Given the description of an element on the screen output the (x, y) to click on. 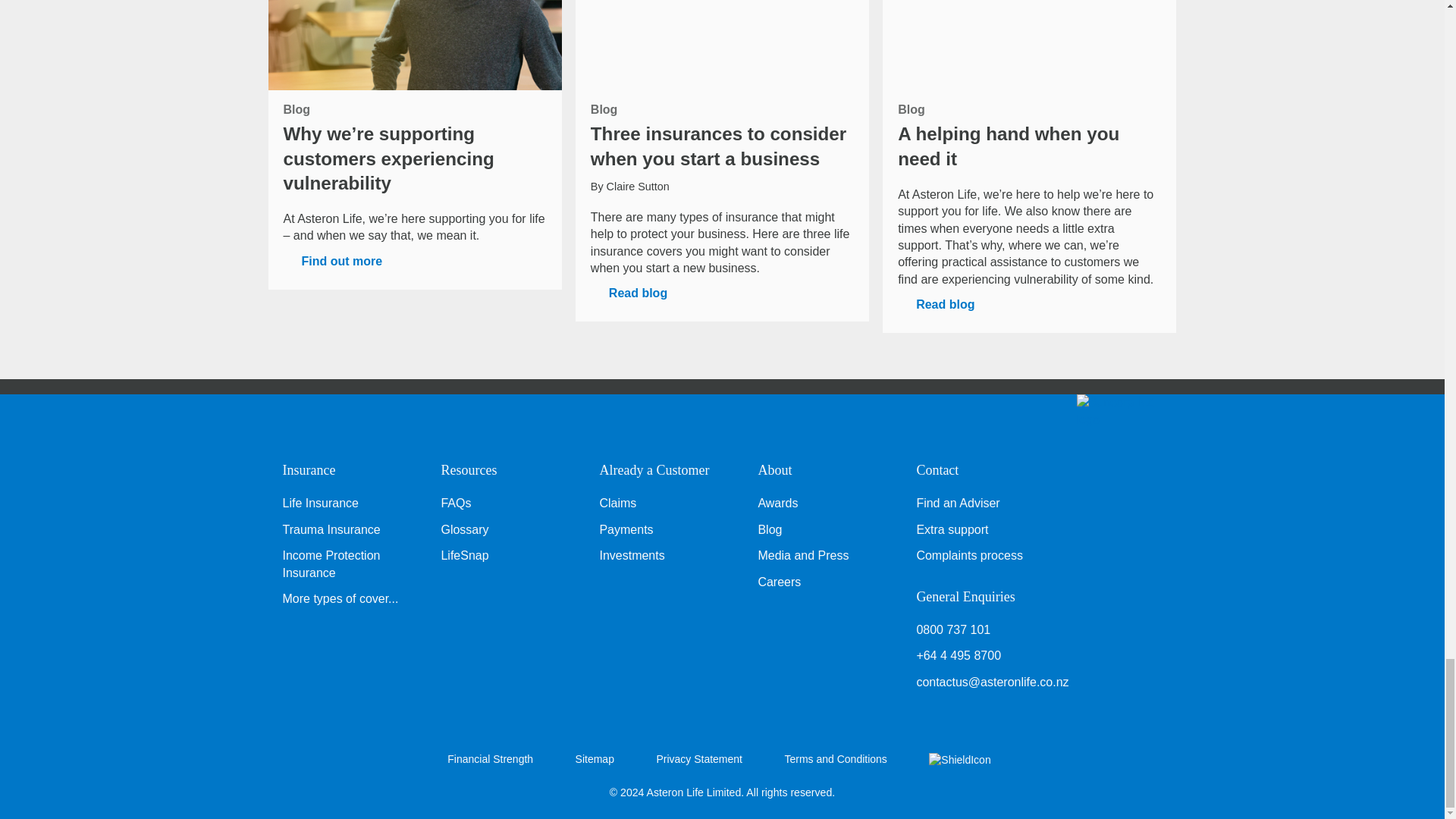
Womens Refuge (959, 758)
